Given the description of an element on the screen output the (x, y) to click on. 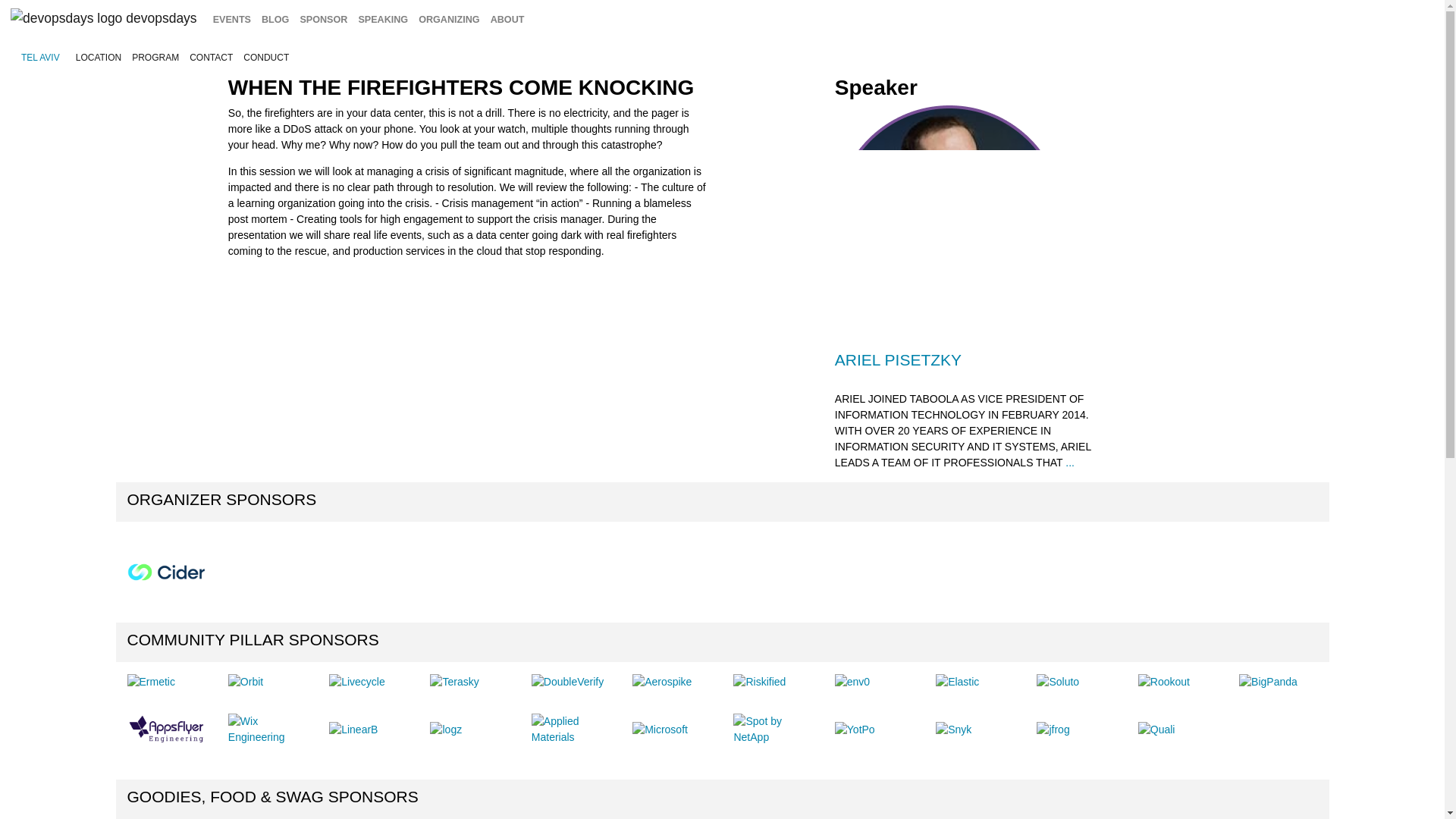
Livecycle (357, 682)
Ermetic (151, 682)
Terasky (454, 682)
Elastic (957, 682)
AppsFlyer (166, 729)
logz (445, 729)
PROGRAM (155, 57)
ARIEL PISETZKY (897, 359)
Orbit (245, 682)
Applied Materials (570, 729)
Cider Security (166, 571)
SPEAKING (382, 19)
ABOUT (506, 19)
ORGANIZING (448, 19)
Aerospike (661, 682)
